Given the description of an element on the screen output the (x, y) to click on. 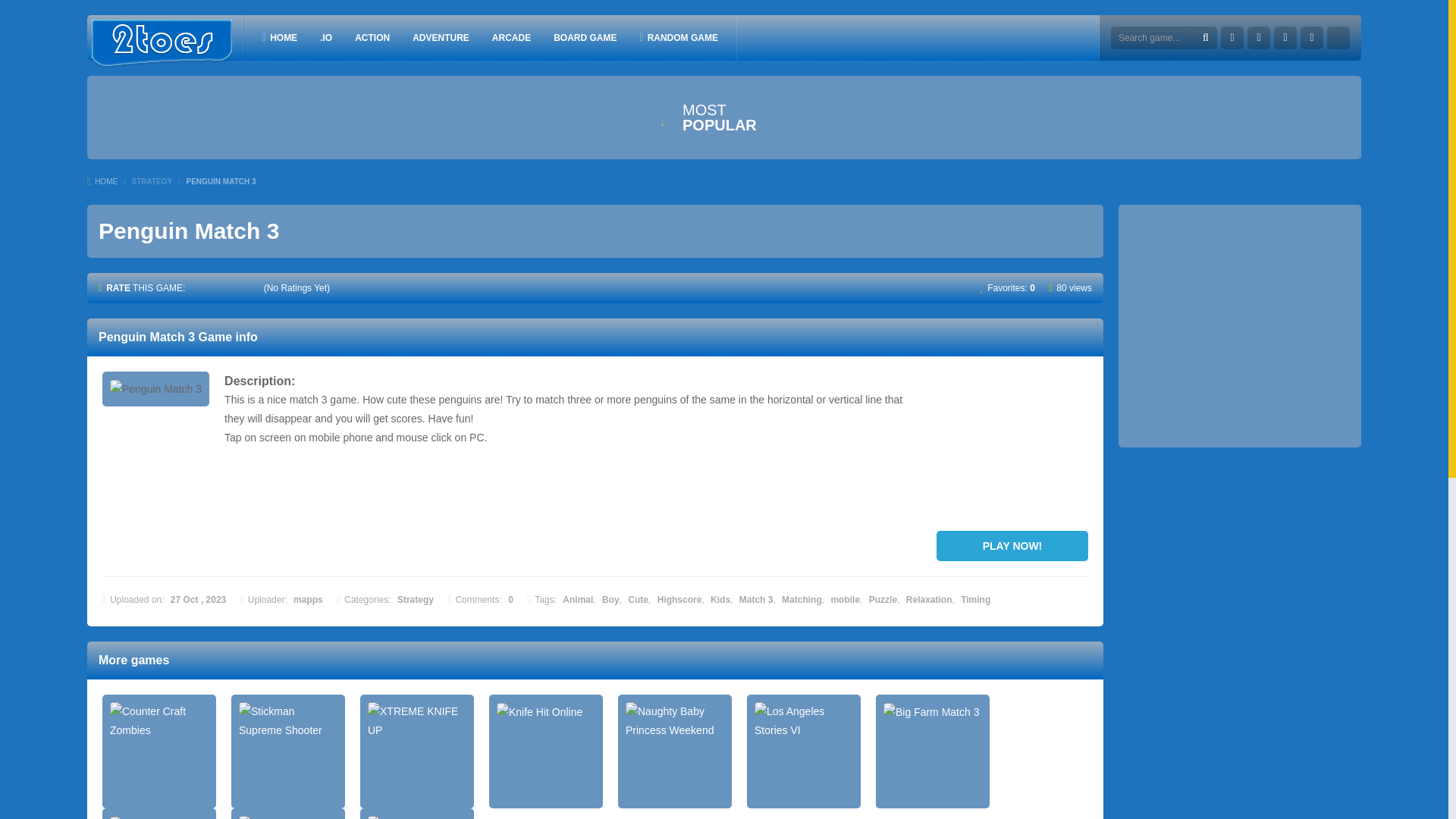
ARCADE (511, 37)
Strategy (415, 599)
Twitter (1258, 37)
STRATEGY (151, 181)
PLAY NOW! (1011, 545)
Feed (1311, 37)
ACTION (372, 37)
HOME (279, 37)
ADVENTURE (440, 37)
Instagram (1285, 37)
